Given the description of an element on the screen output the (x, y) to click on. 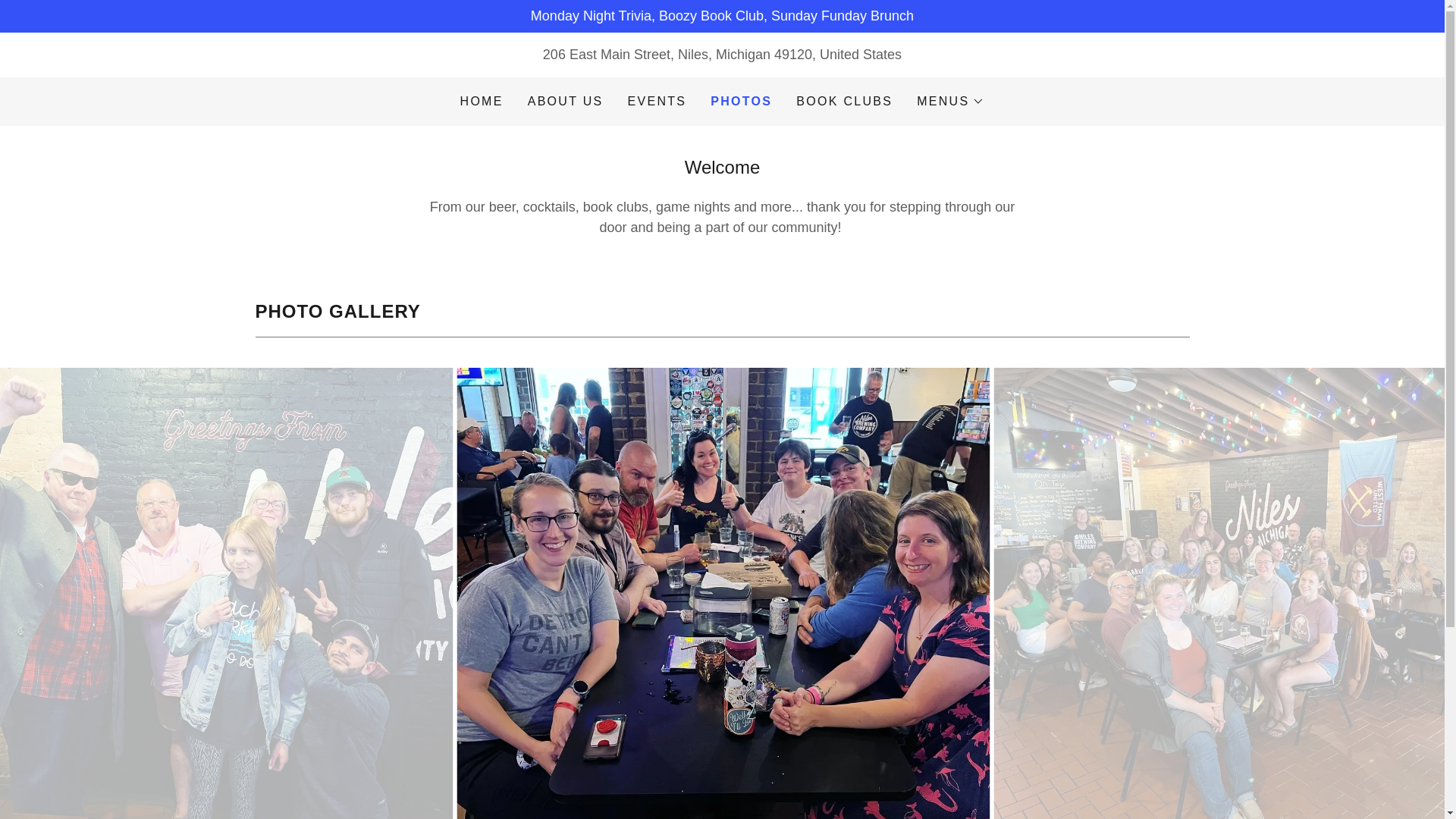
EVENTS (657, 101)
PHOTOS (740, 101)
BOOK CLUBS (844, 101)
MENUS (950, 101)
ABOUT US (565, 101)
HOME (481, 101)
